Given the description of an element on the screen output the (x, y) to click on. 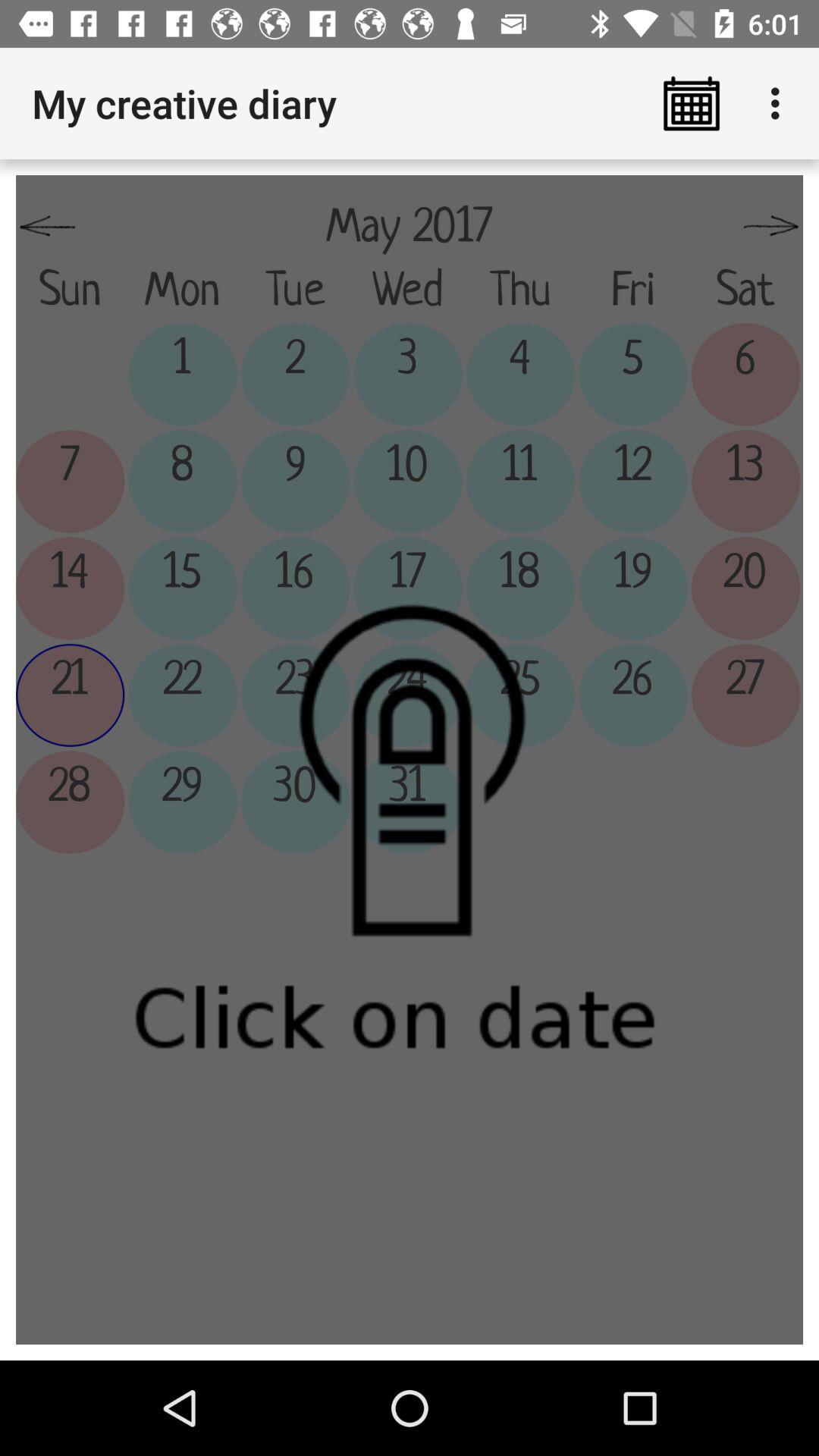
turn off the app below the my creative diary icon (47, 226)
